Given the description of an element on the screen output the (x, y) to click on. 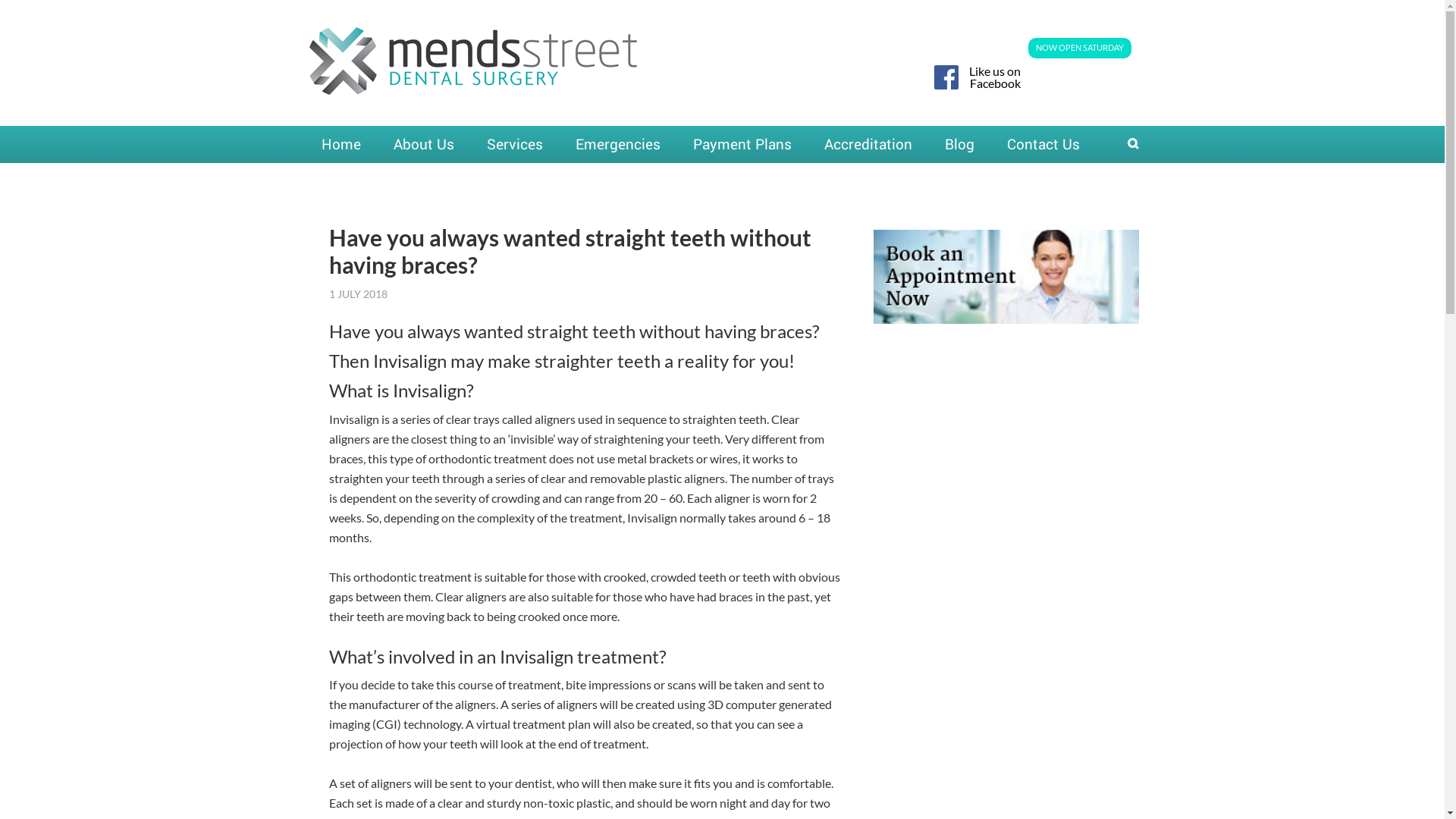
Dentist South Perth Mends Street Element type: hover (473, 83)
Home Element type: text (341, 144)
Blog Element type: text (959, 144)
Dentist South Perth Mends Street Element type: hover (473, 60)
Accreditation Element type: text (867, 144)
Contact Us Element type: text (1043, 144)
Services Element type: text (514, 144)
Emergencies Element type: text (616, 144)
About Us Element type: text (422, 144)
Payment Plans Element type: text (741, 144)
Like us on Facebook Element type: text (974, 77)
